Given the description of an element on the screen output the (x, y) to click on. 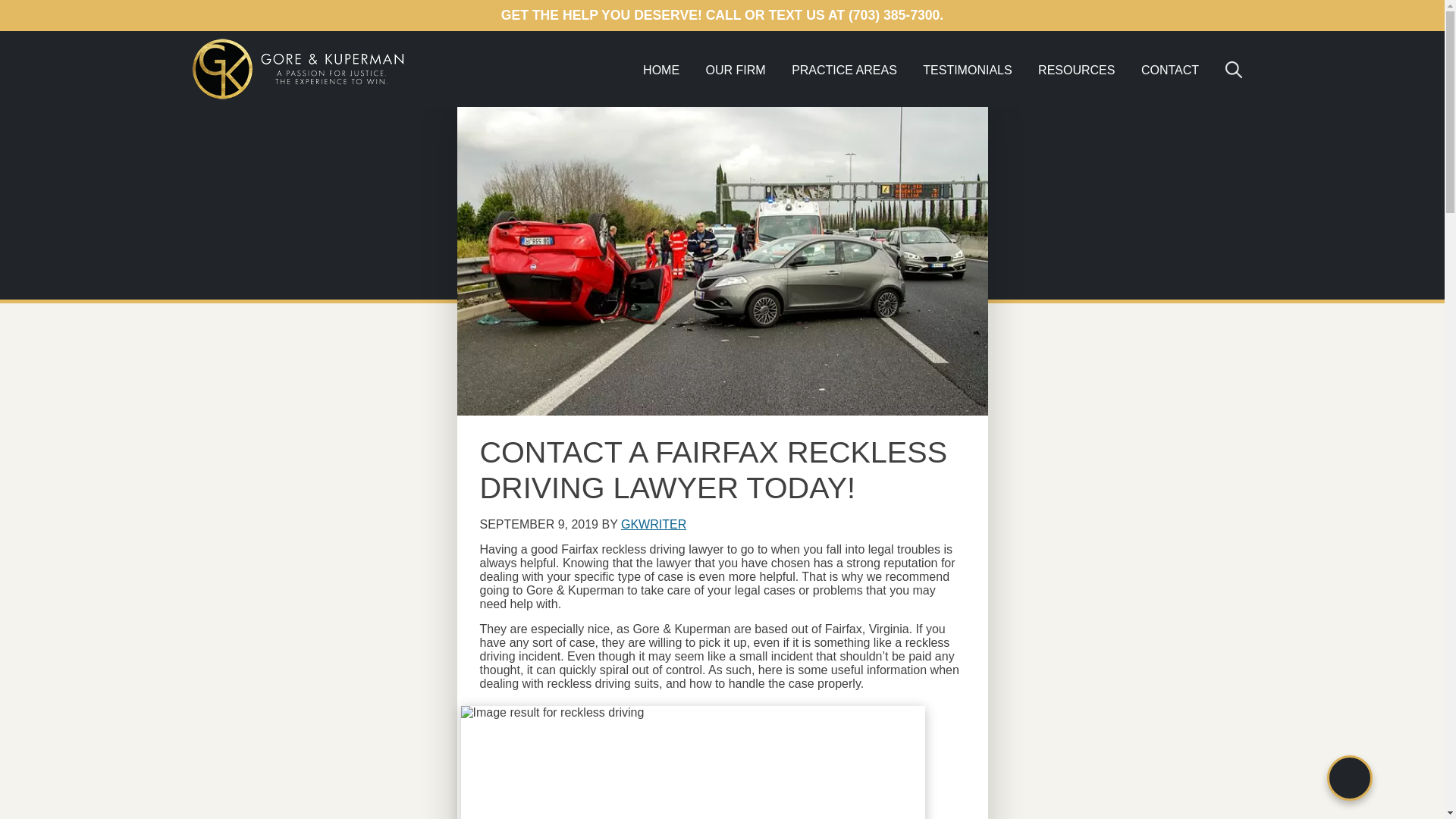
PRACTICE AREAS (844, 69)
Contact a Fairfax Reckless Driving Lawyer Today! 1 (692, 762)
OUR FIRM (735, 69)
CONTACT (1169, 69)
GKWRITER (653, 522)
HOME (660, 69)
RESOURCES (1075, 69)
TESTIMONIALS (967, 69)
